Given the description of an element on the screen output the (x, y) to click on. 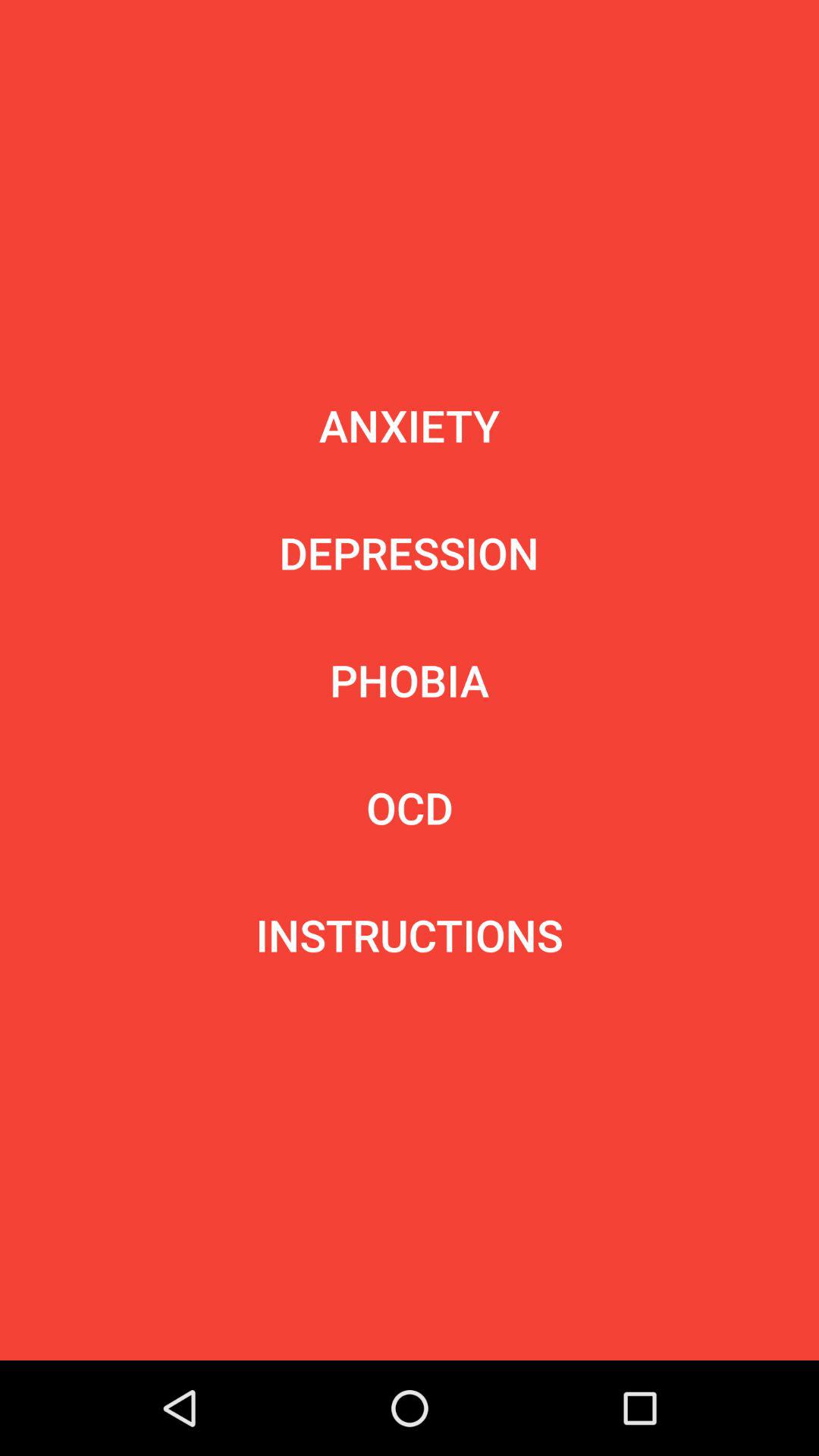
select item below anxiety (409, 552)
